Given the description of an element on the screen output the (x, y) to click on. 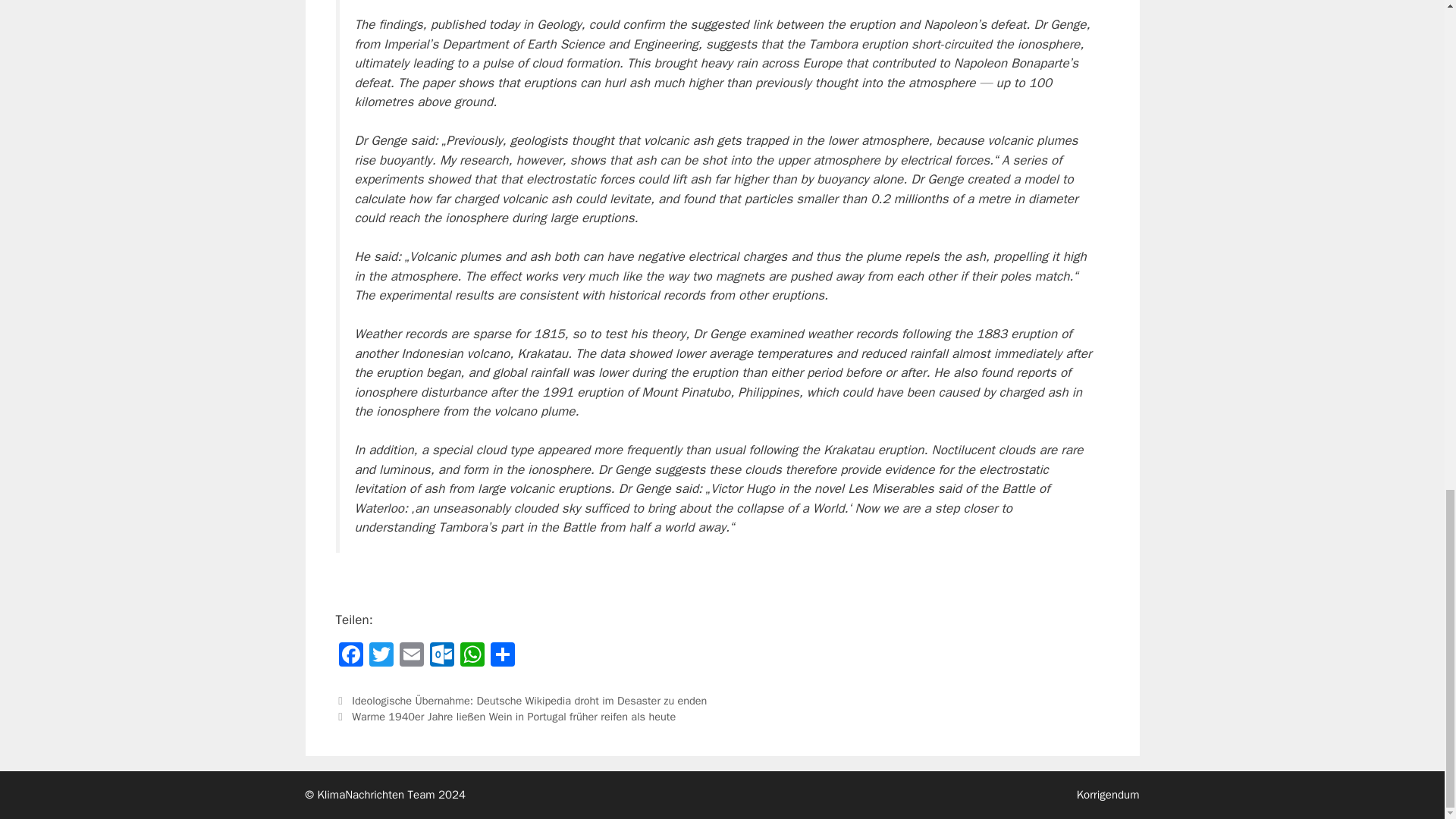
Twitter (380, 656)
Outlook.com (441, 656)
WhatsApp (471, 656)
Facebook (349, 656)
Facebook (349, 656)
Outlook.com (441, 656)
Email (411, 656)
Weiter (504, 716)
WhatsApp (471, 656)
Twitter (380, 656)
